Given the description of an element on the screen output the (x, y) to click on. 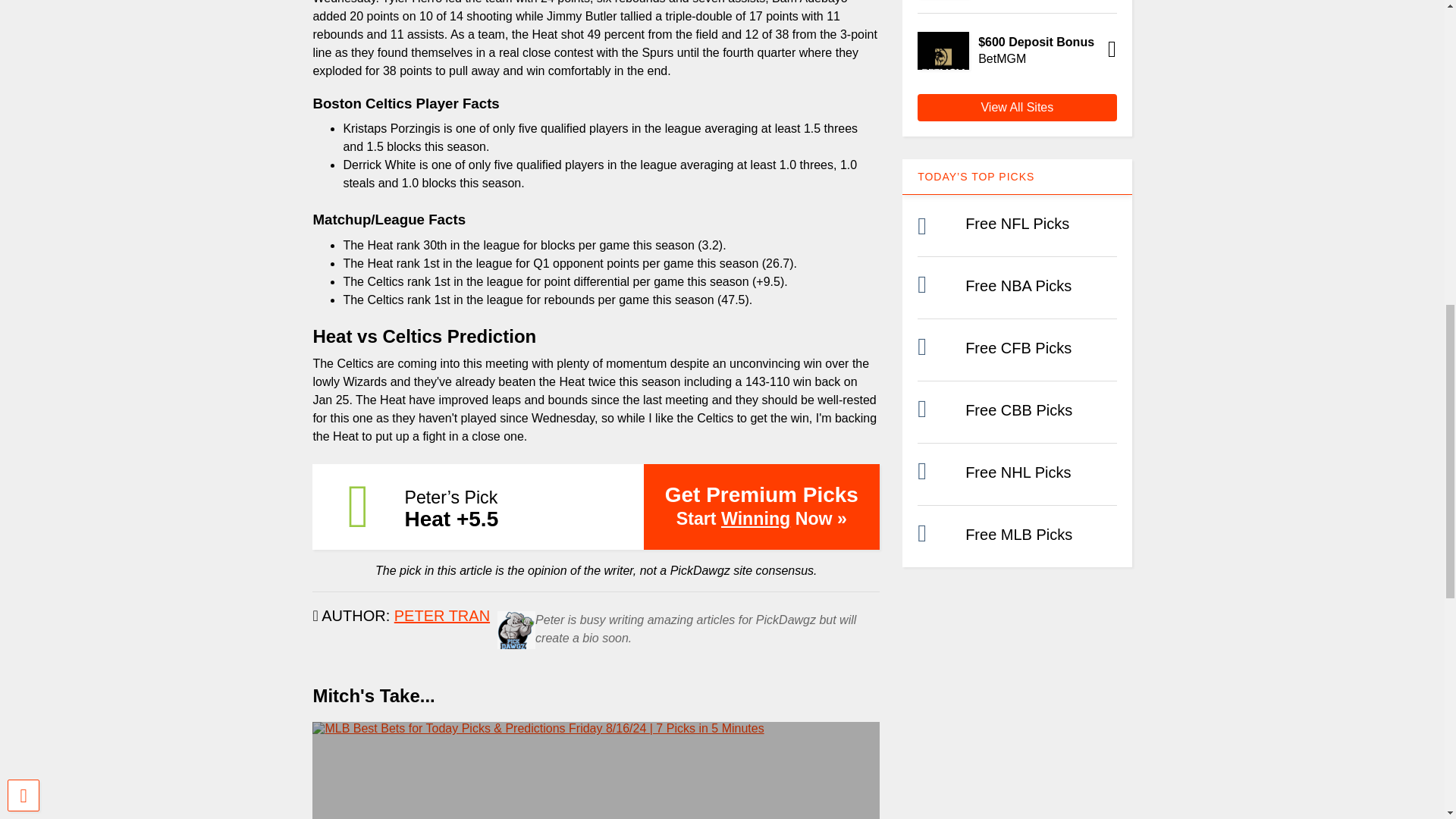
Free NFL Picks (1016, 223)
Free NBA Picks (1018, 285)
Free MLB Picks (1018, 534)
Free CBB Picks (1018, 410)
Free CFB Picks (1018, 347)
Free NHL Picks (1017, 472)
author profile (441, 615)
